Given the description of an element on the screen output the (x, y) to click on. 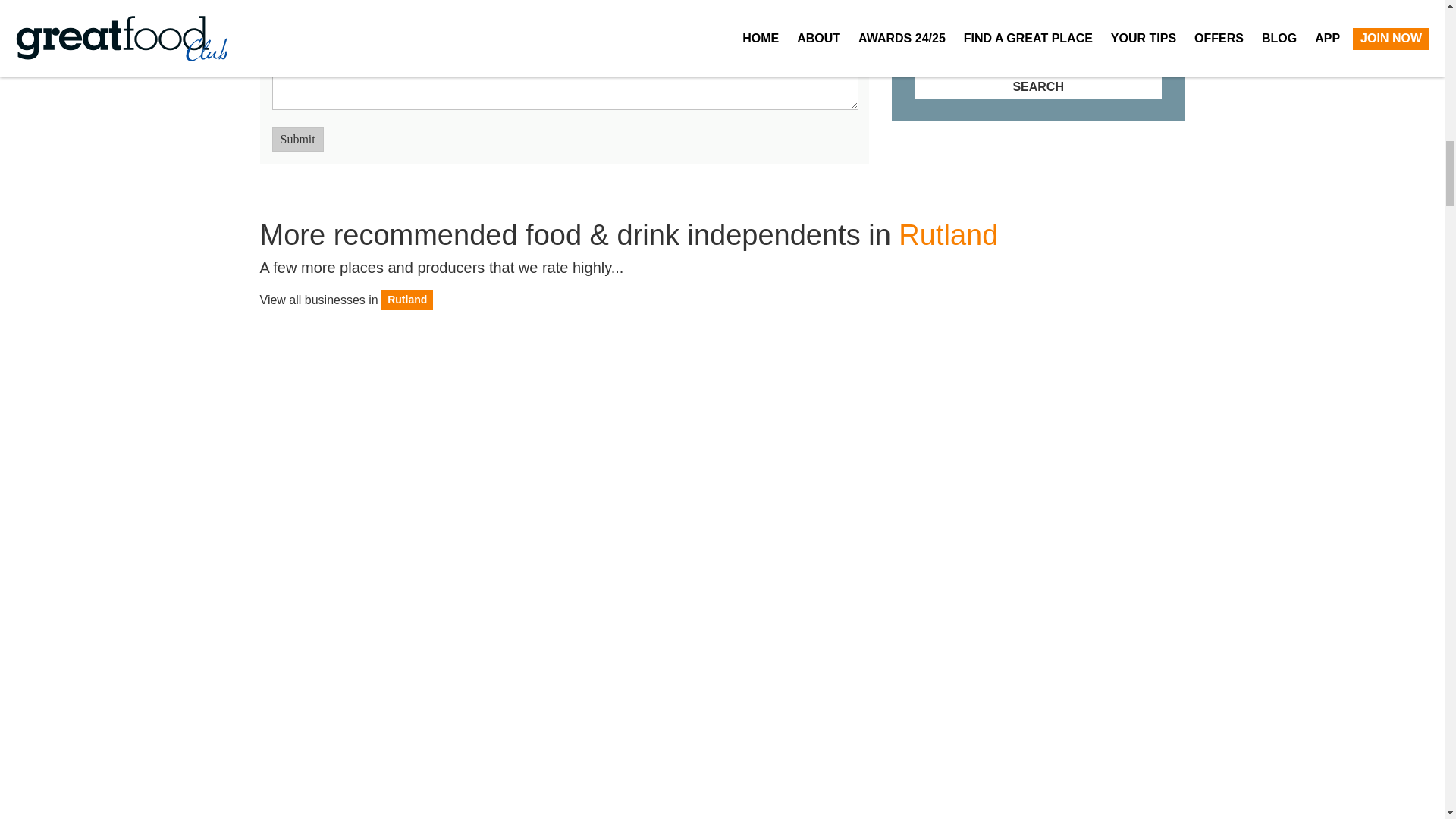
Submit (296, 139)
Search (1037, 87)
Search (1037, 87)
Submit (296, 139)
